Given the description of an element on the screen output the (x, y) to click on. 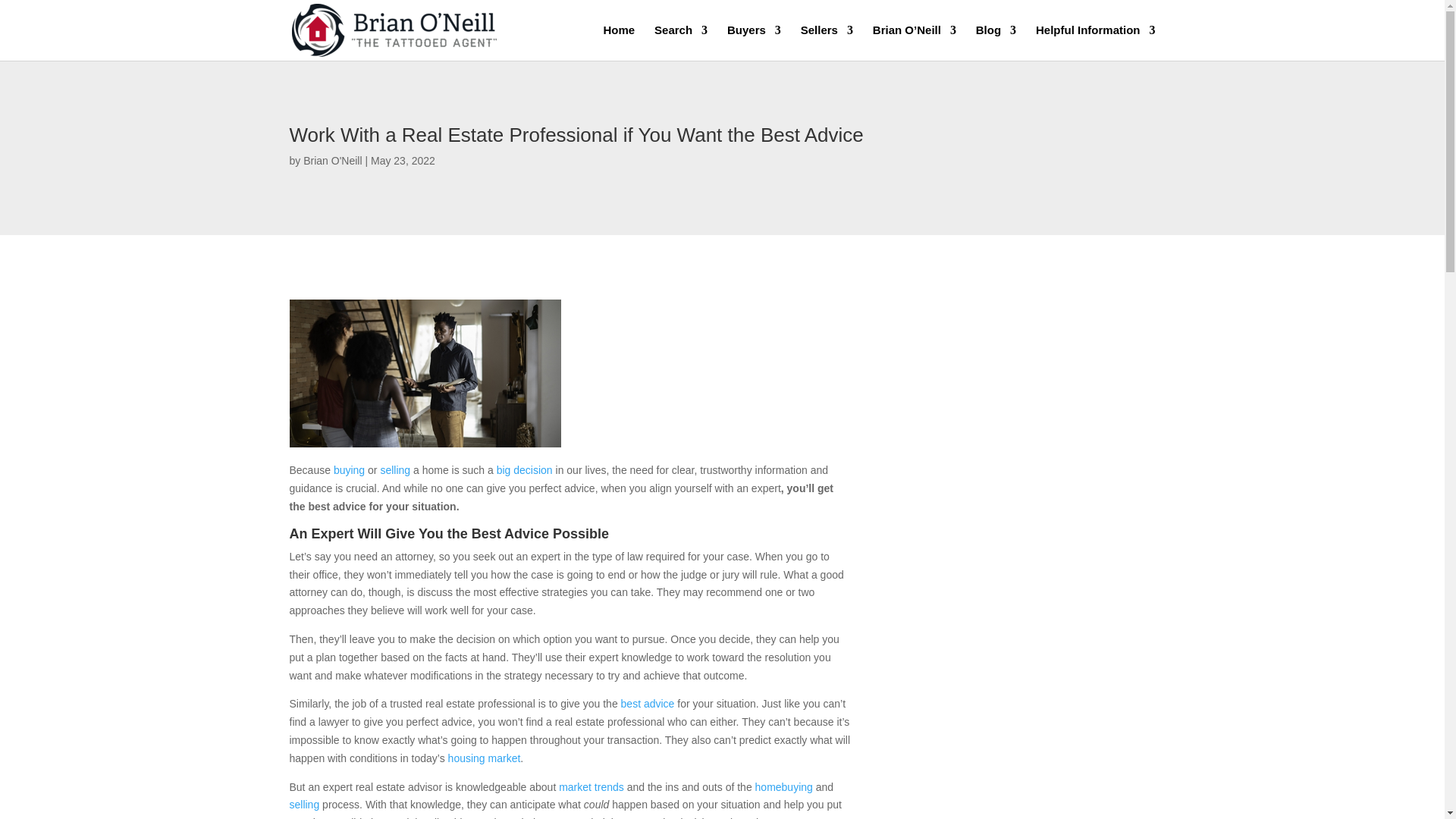
Blog (995, 42)
Posts by Brian O'Neill (331, 160)
Search (680, 42)
Home (618, 42)
Sellers (826, 42)
Buyers (753, 42)
Helpful Information (1095, 42)
